Given the description of an element on the screen output the (x, y) to click on. 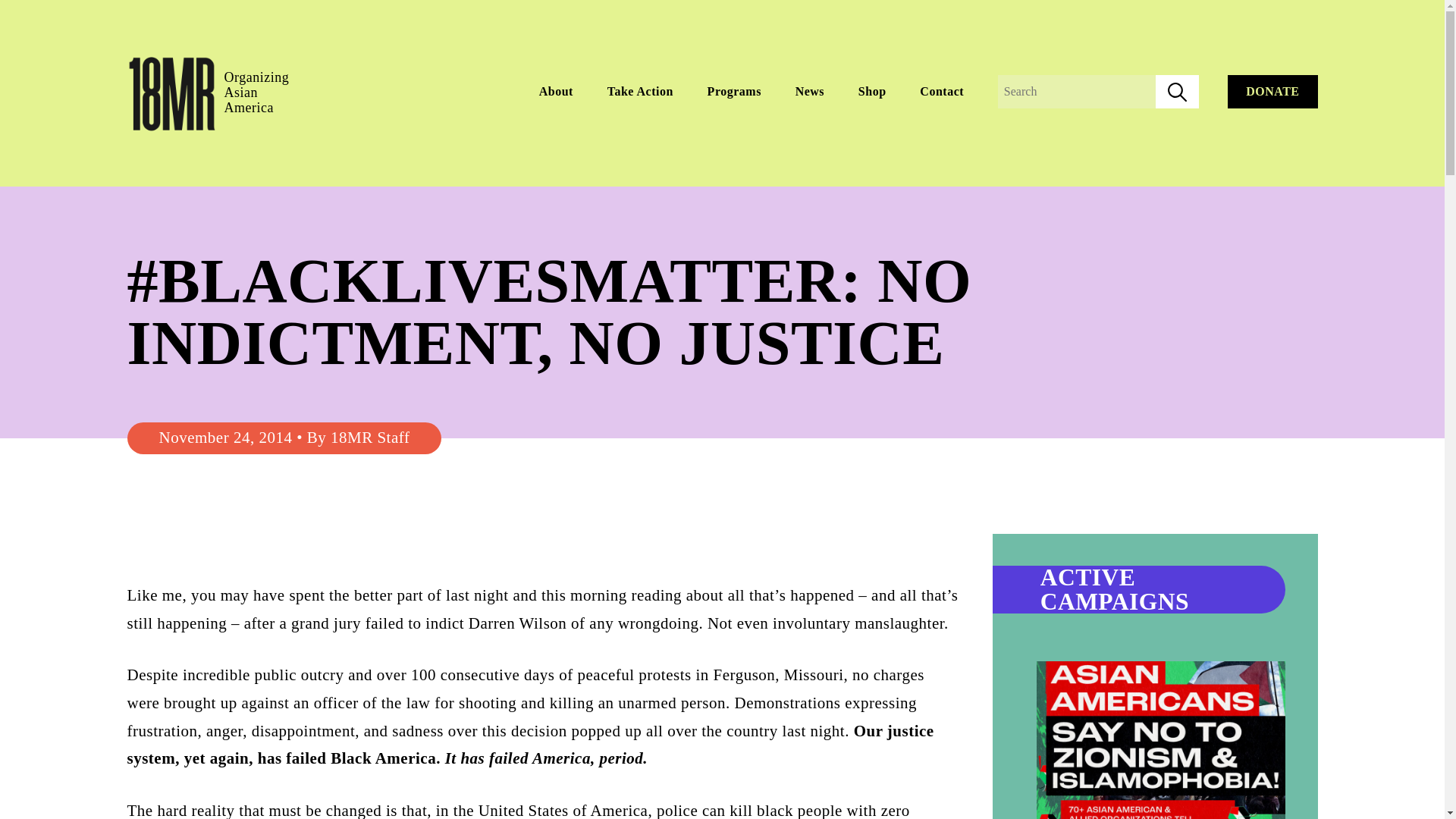
Programs (734, 91)
Shop (872, 91)
Take Action (639, 91)
News (809, 91)
About (555, 91)
DONATE (1272, 91)
Contact (941, 91)
